Given the description of an element on the screen output the (x, y) to click on. 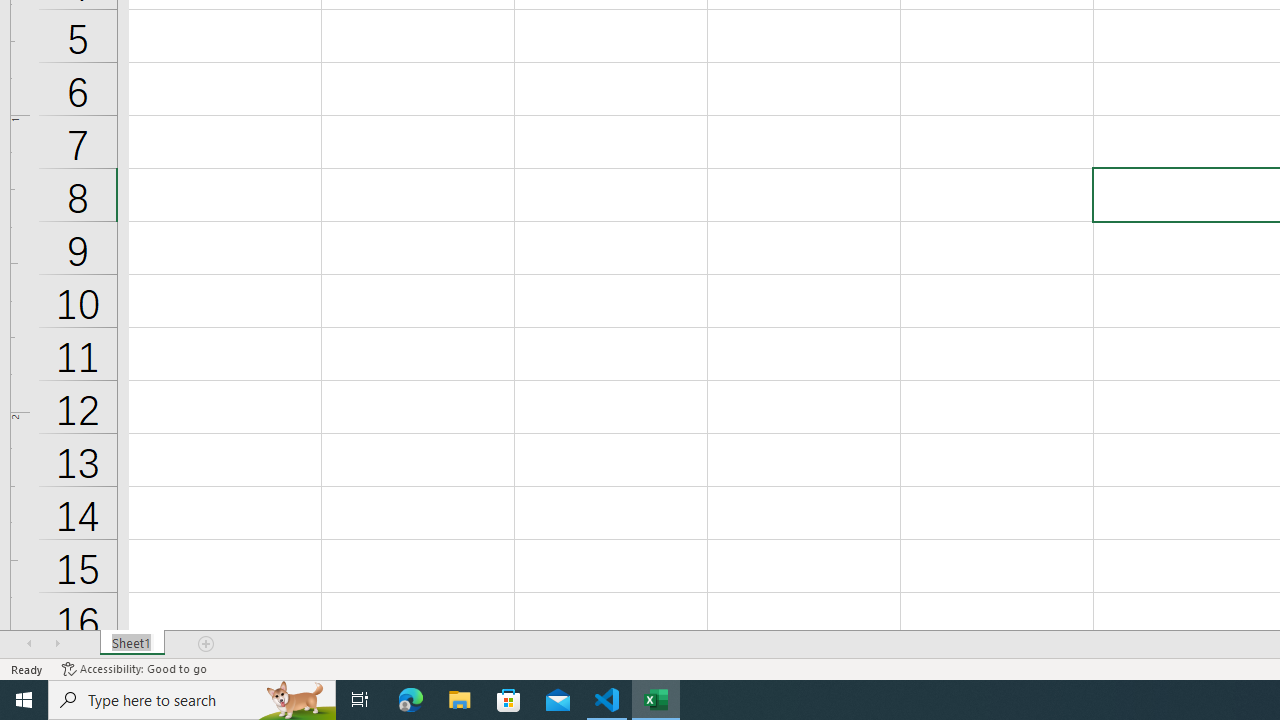
Scroll Right (57, 644)
Accessibility Checker Accessibility: Good to go (134, 668)
Add Sheet (207, 644)
Sheet1 (132, 644)
Sheet Tab (132, 644)
Scroll Left (29, 644)
